Given the description of an element on the screen output the (x, y) to click on. 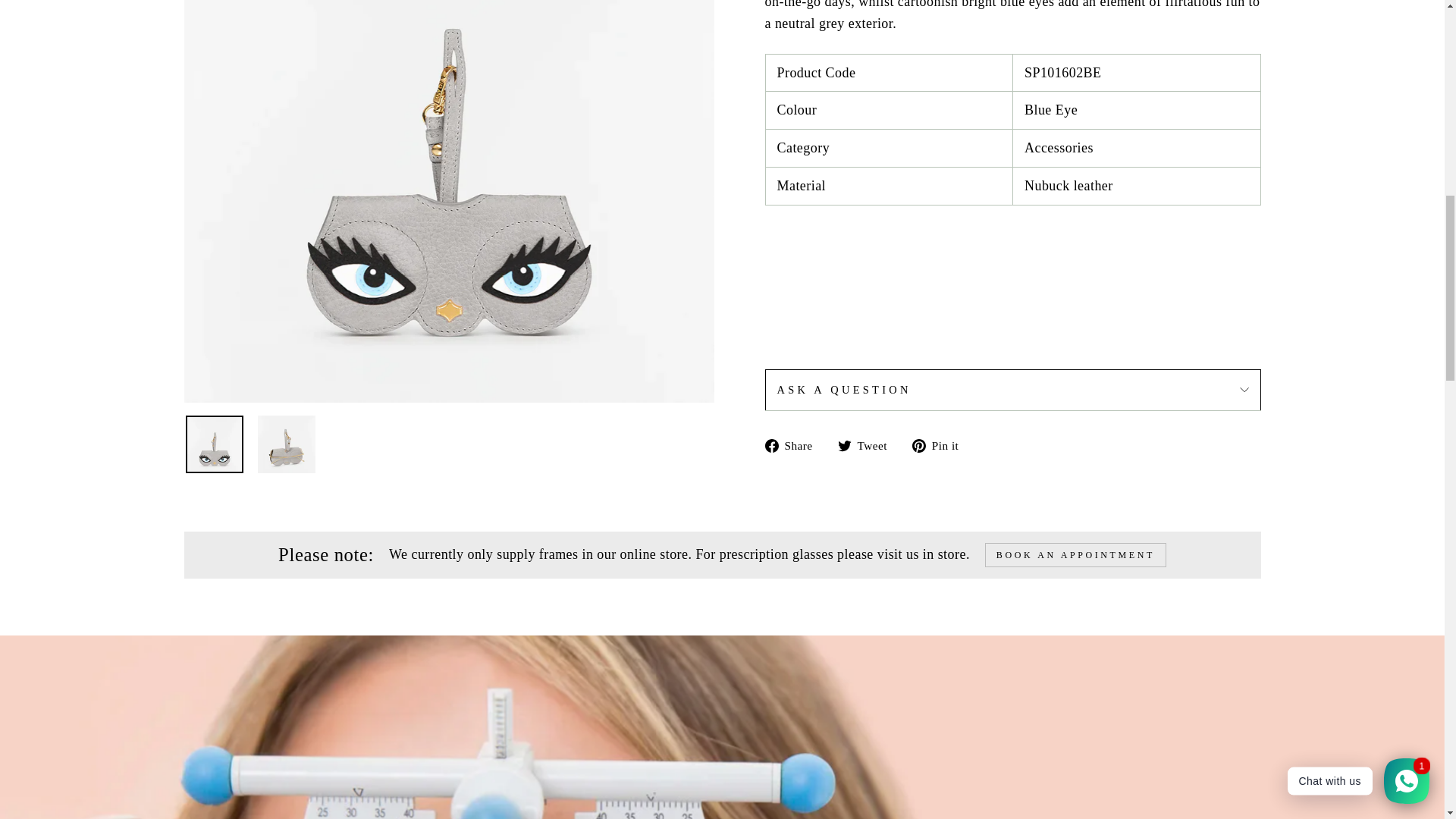
Share on Facebook (794, 444)
Pin on Pinterest (940, 444)
Tweet on Twitter (868, 444)
